Given the description of an element on the screen output the (x, y) to click on. 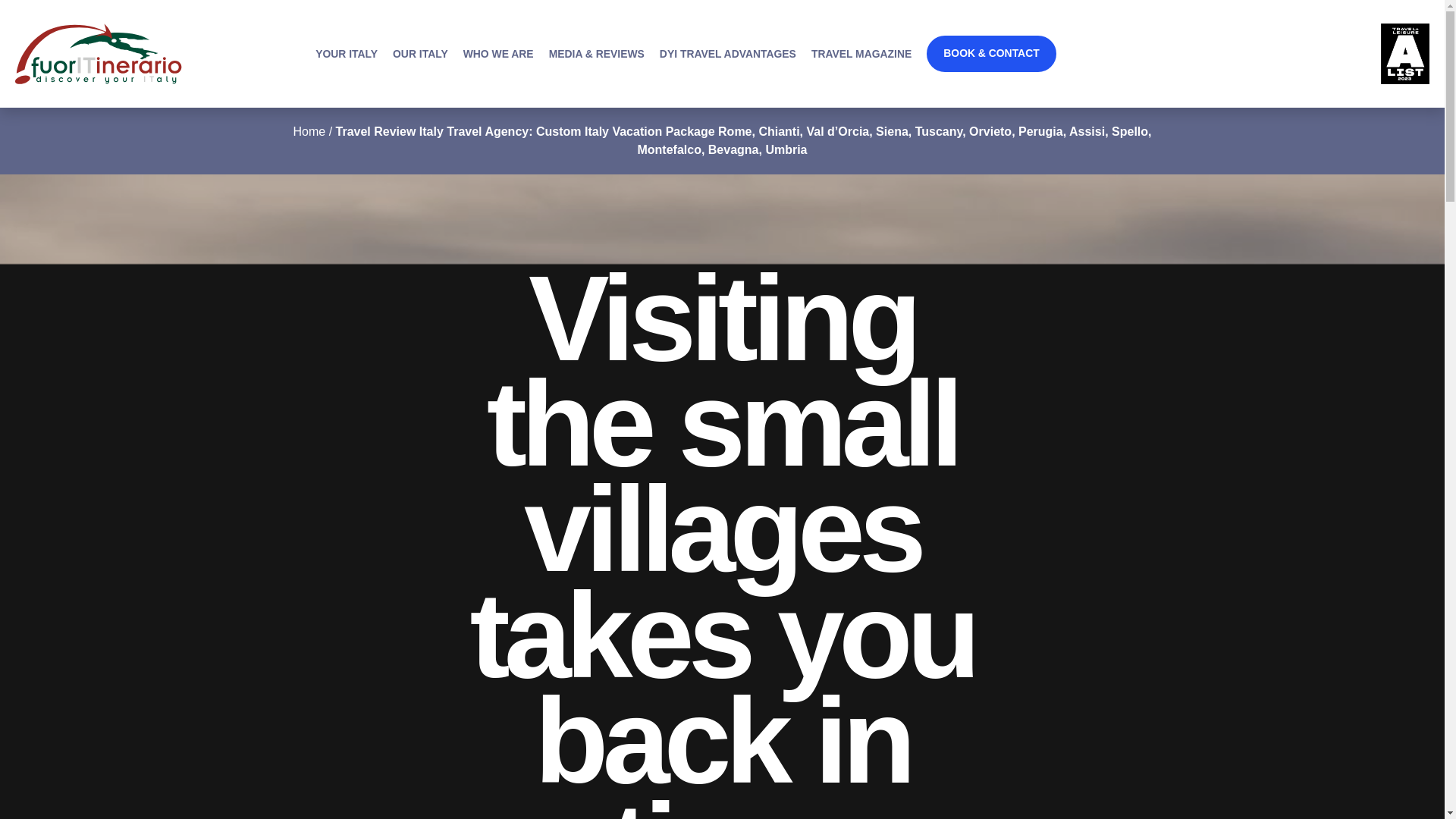
OUR ITALY (420, 53)
YOUR ITALY (346, 53)
TRAVEL MAGAZINE (860, 53)
Home (308, 131)
WHO WE ARE (498, 53)
DYI TRAVEL ADVANTAGES (727, 53)
